Given the description of an element on the screen output the (x, y) to click on. 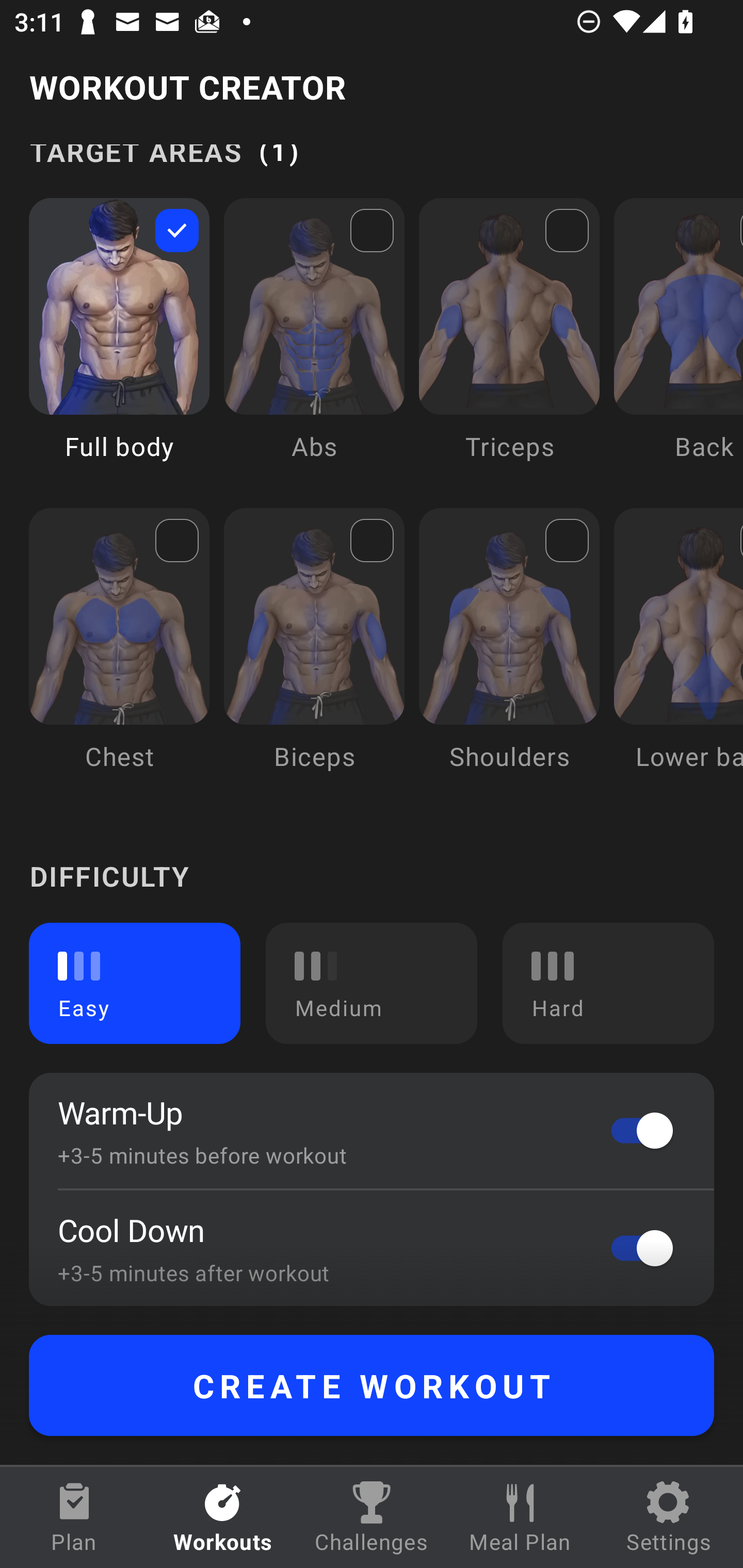
Abs (313, 343)
Triceps (509, 343)
Back (678, 343)
Chest (118, 653)
Biceps (313, 653)
Shoulders (509, 653)
Lower back (678, 653)
Medium (371, 982)
Hard (608, 982)
CREATE WORKOUT (371, 1385)
 Plan  (74, 1517)
 Challenges  (371, 1517)
 Meal Plan  (519, 1517)
 Settings  (668, 1517)
